Given the description of an element on the screen output the (x, y) to click on. 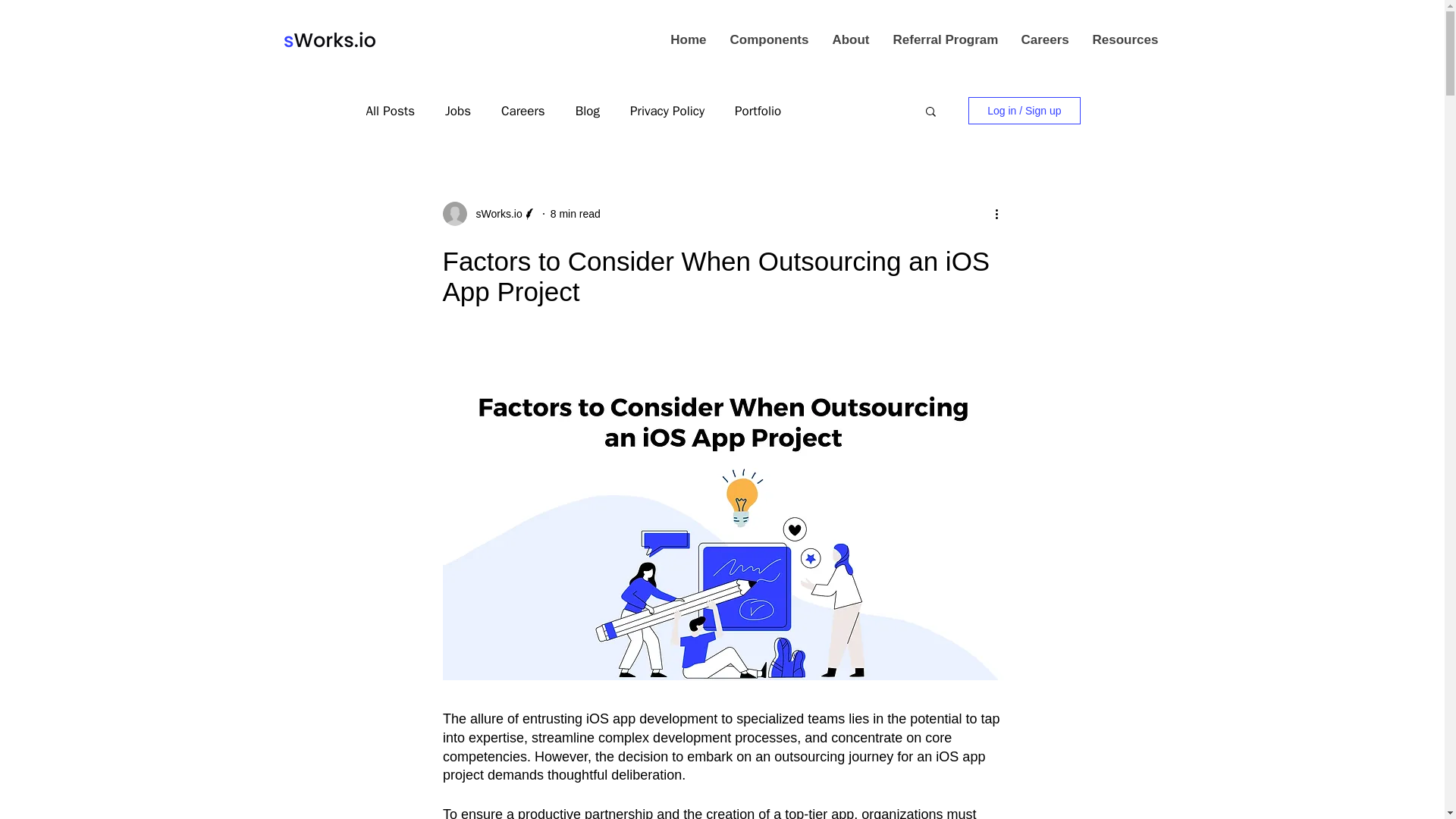
Home (687, 39)
Resources (1123, 39)
About (849, 39)
Careers (522, 109)
sWorks.io (494, 213)
Privacy Policy (667, 109)
Jobs (457, 109)
8 min read (574, 214)
Components (767, 39)
Careers (1044, 39)
Portfolio (757, 109)
Referral Program (944, 39)
Blog (587, 109)
All Posts (389, 109)
